Given the description of an element on the screen output the (x, y) to click on. 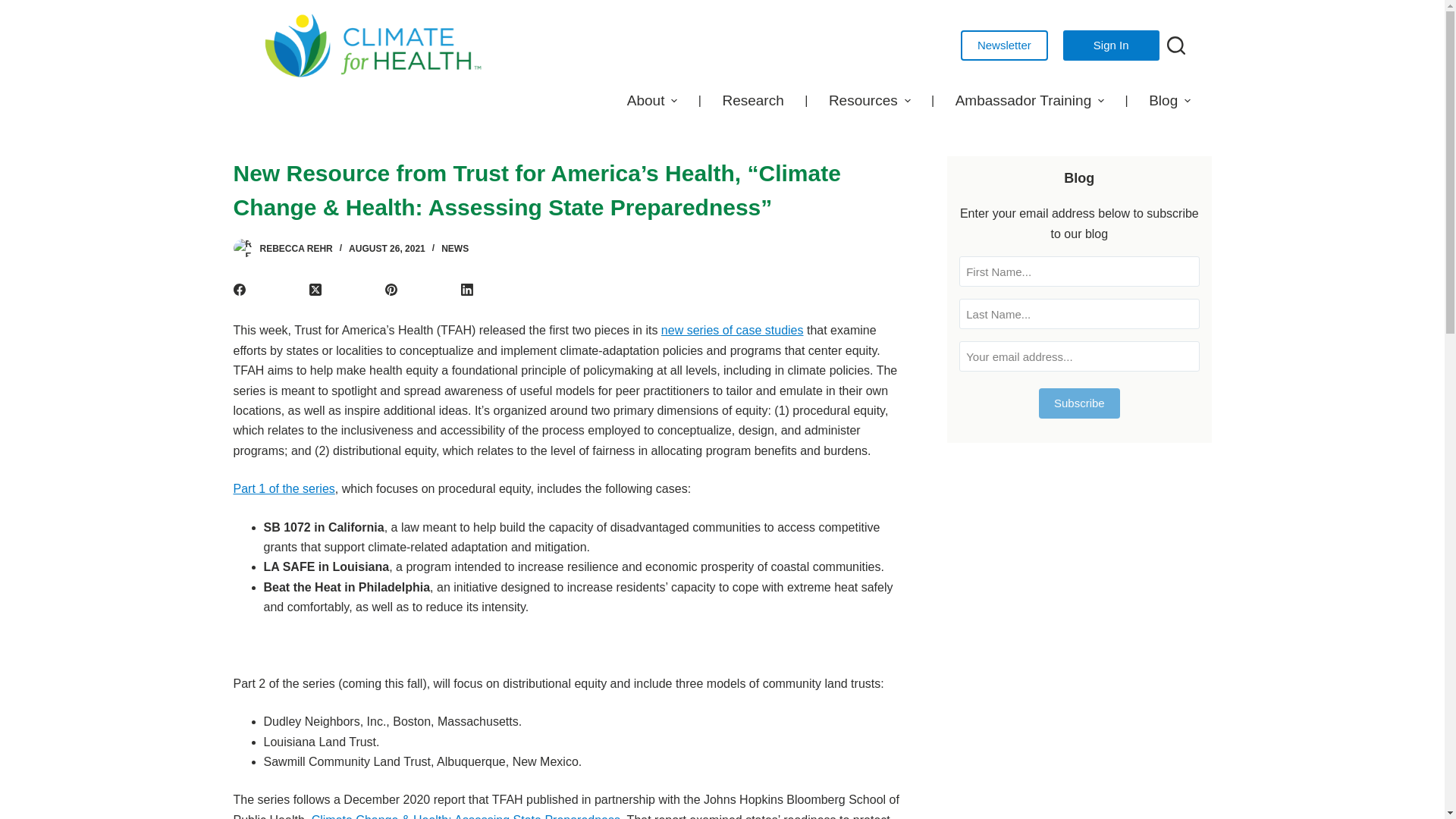
Skip to content (15, 7)
Subscribe (1079, 403)
Resources (869, 100)
Sign In (1110, 45)
Newsletter (1004, 45)
Posts by Rebecca Rehr (295, 248)
About (651, 100)
Research (753, 100)
